Given the description of an element on the screen output the (x, y) to click on. 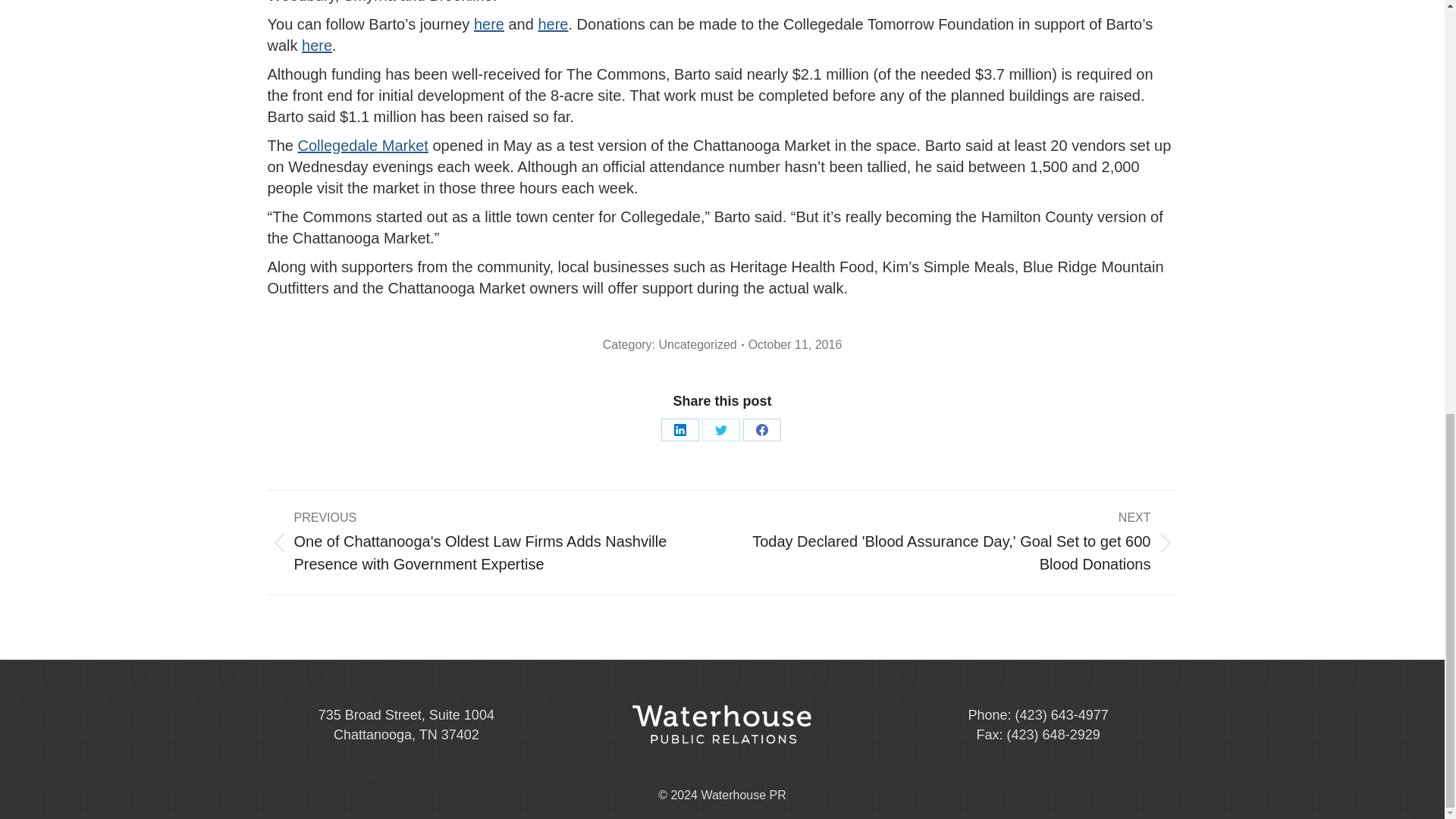
October 11, 2016 (795, 344)
here (488, 23)
here (316, 45)
Uncategorized (697, 344)
Collegedale Market (363, 145)
LinkedIn (679, 429)
Share on Twitter (720, 429)
Twitter (720, 429)
Share on LinkedIn (679, 429)
10:52 am (795, 344)
Facebook (761, 429)
here (552, 23)
